Given the description of an element on the screen output the (x, y) to click on. 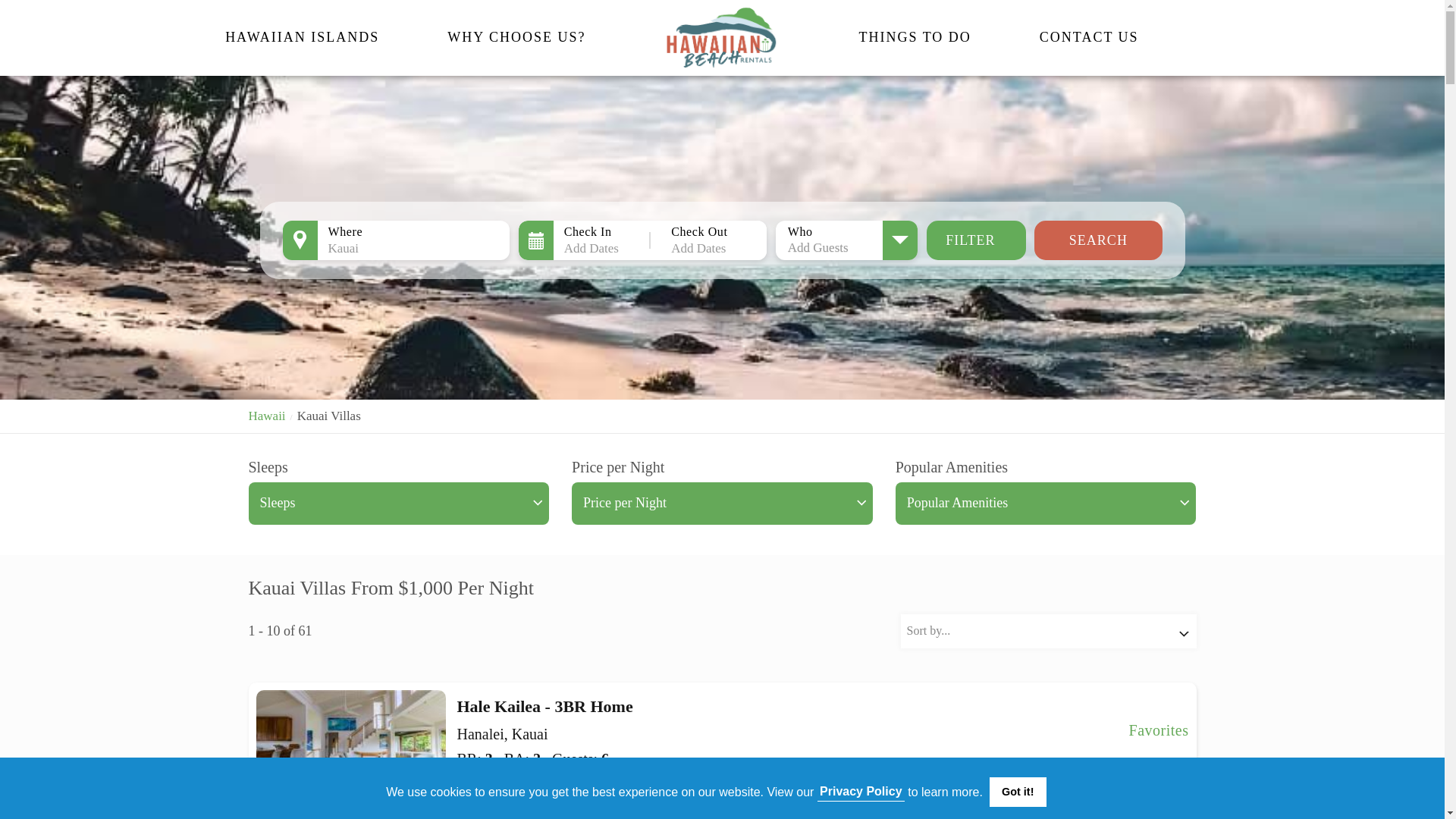
Contact Us (1088, 37)
THINGS TO DO (915, 37)
Hawaii Things To Do (915, 37)
CONTACT US (1088, 37)
Got it! (1018, 791)
Why Choose Us? (515, 37)
WHY CHOOSE US? (515, 37)
Privacy Policy (860, 790)
Hawaii Vacation Rentals by Hawaiian Beach Rentals (721, 37)
HAWAIIAN ISLANDS (301, 37)
Hawaiian Islands (301, 37)
